Given the description of an element on the screen output the (x, y) to click on. 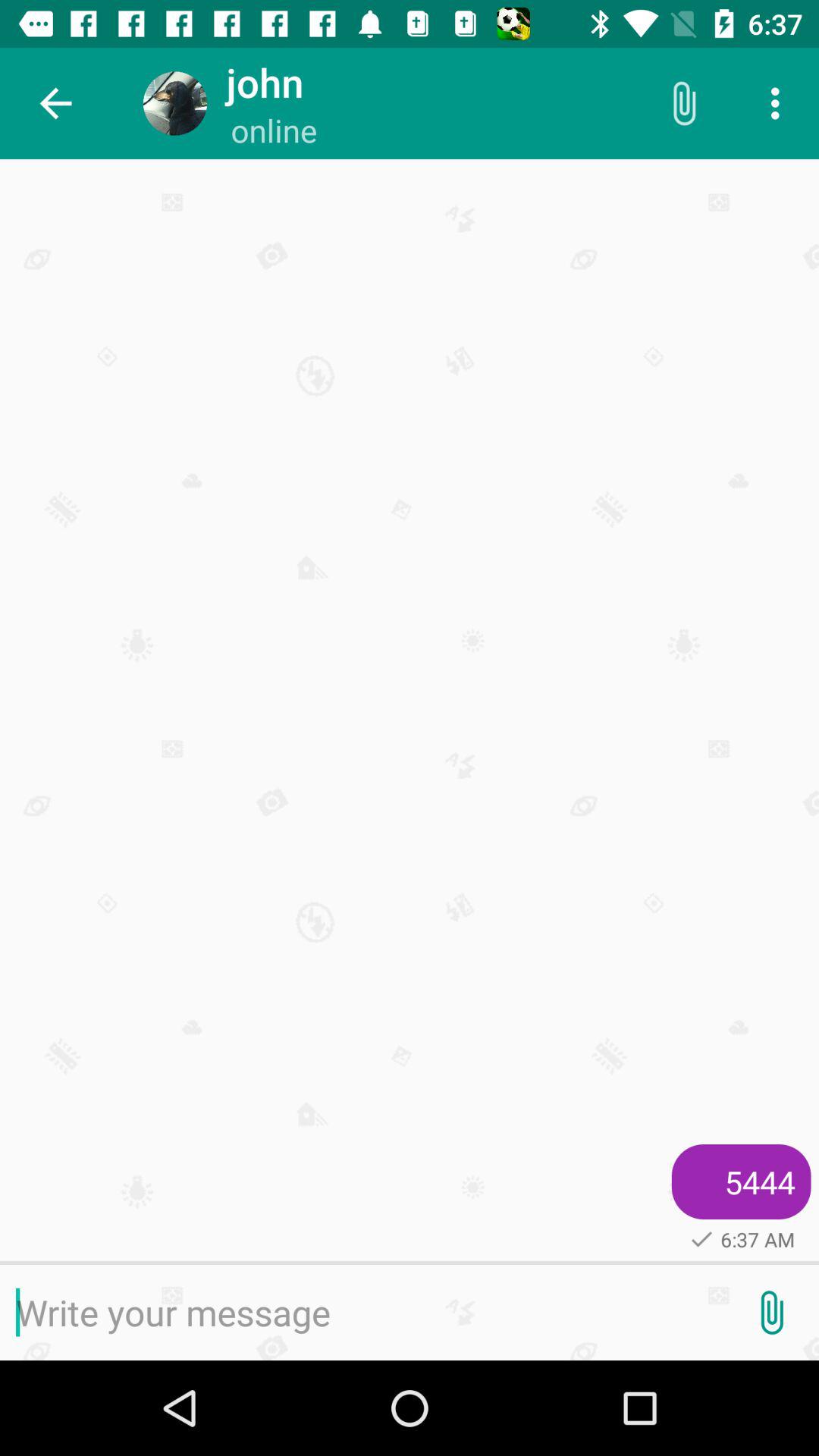
enter the message (361, 1312)
